Given the description of an element on the screen output the (x, y) to click on. 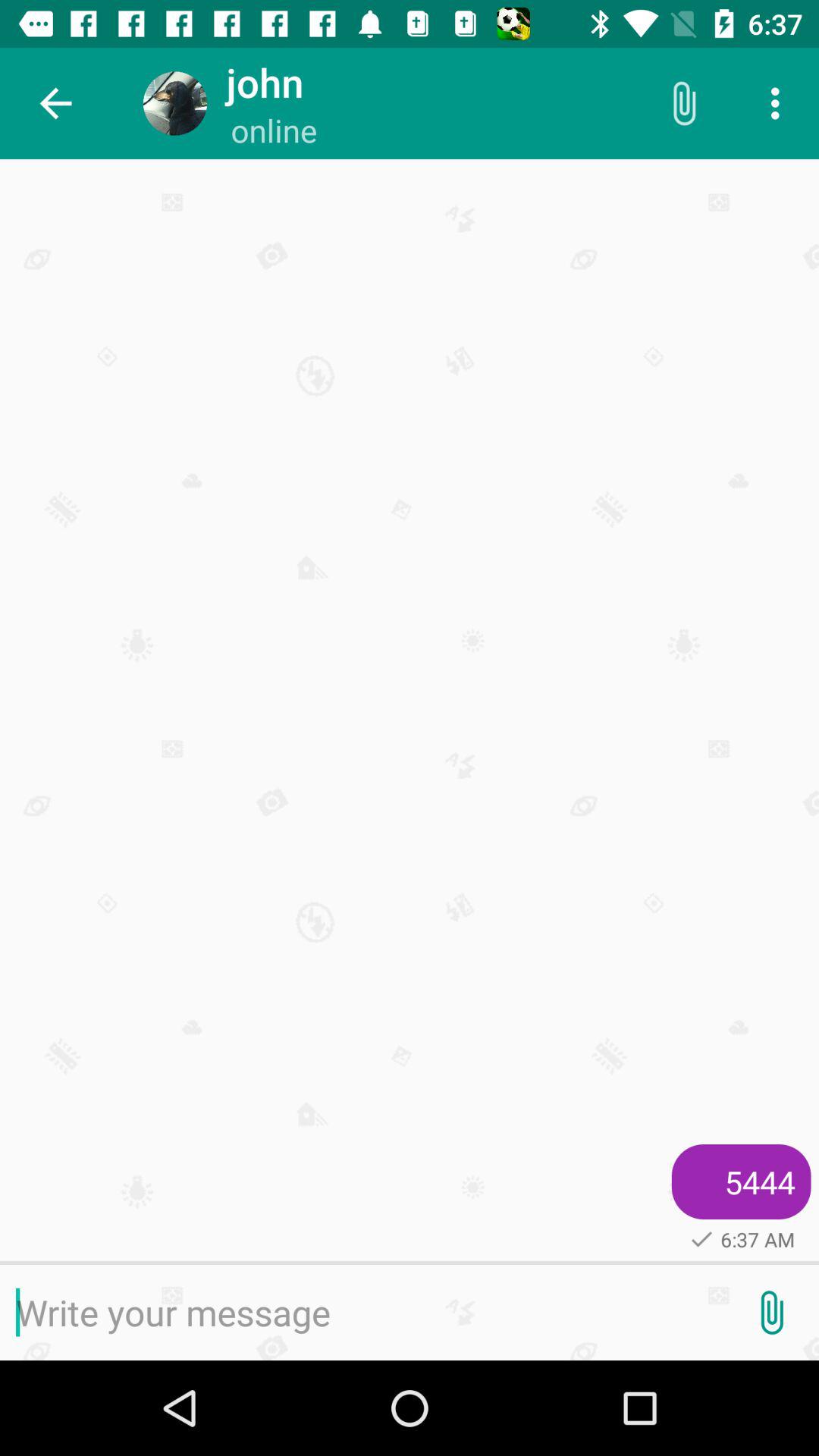
enter the message (361, 1312)
